Given the description of an element on the screen output the (x, y) to click on. 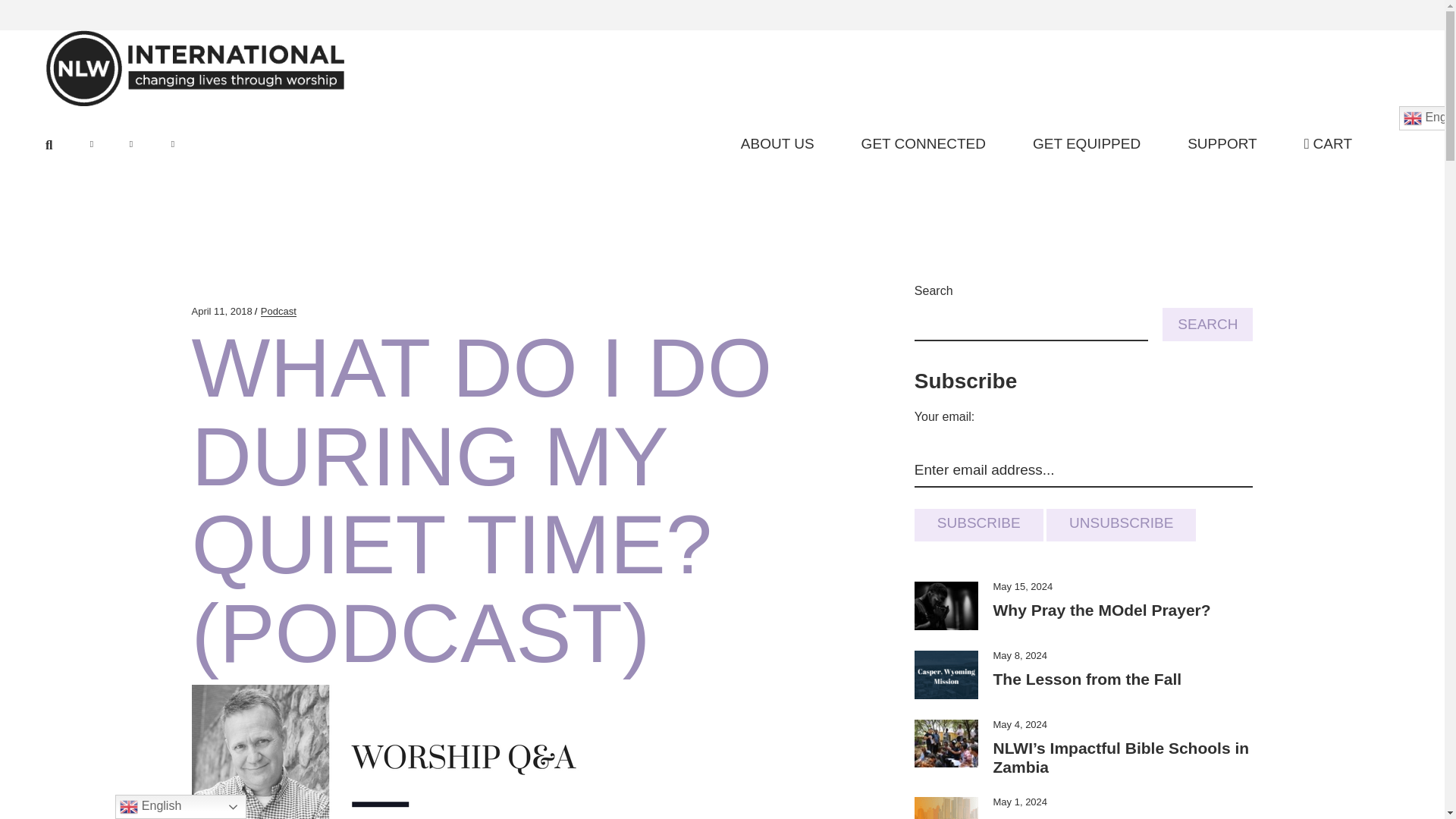
ABOUT US (777, 144)
SUPPORT (1222, 144)
Enter email address... (1083, 470)
GET EQUIPPED (1086, 144)
GET CONNECTED (923, 144)
Subscribe (978, 524)
Unsubscribe (1120, 524)
